Given the description of an element on the screen output the (x, y) to click on. 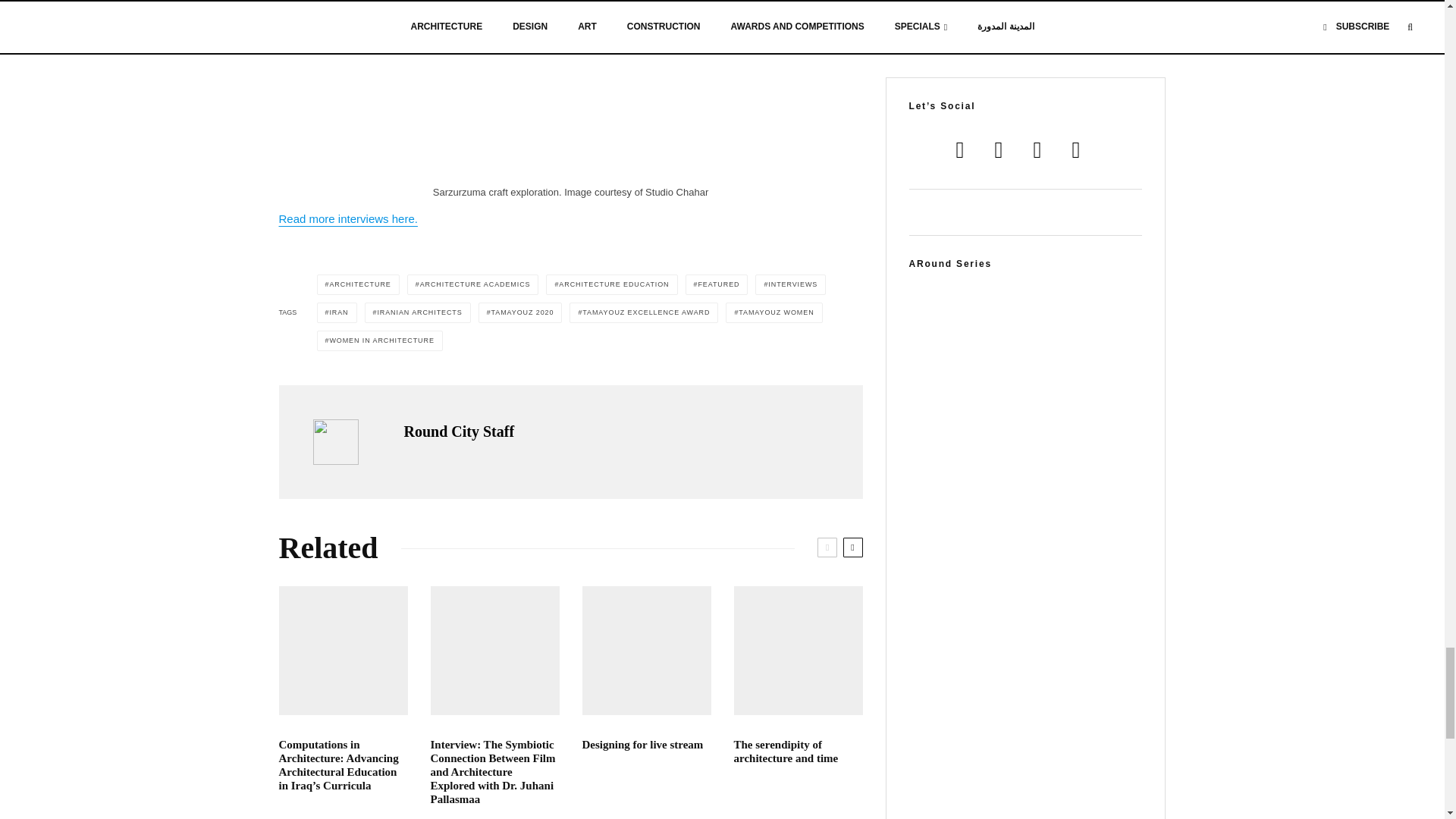
ARCHITECTURE (357, 284)
ARCHITECTURE EDUCATION (611, 284)
Read more interviews here. (348, 218)
INTERVIEWS (790, 284)
ARCHITECTURE ACADEMICS (472, 284)
FEATURED (716, 284)
